Given the description of an element on the screen output the (x, y) to click on. 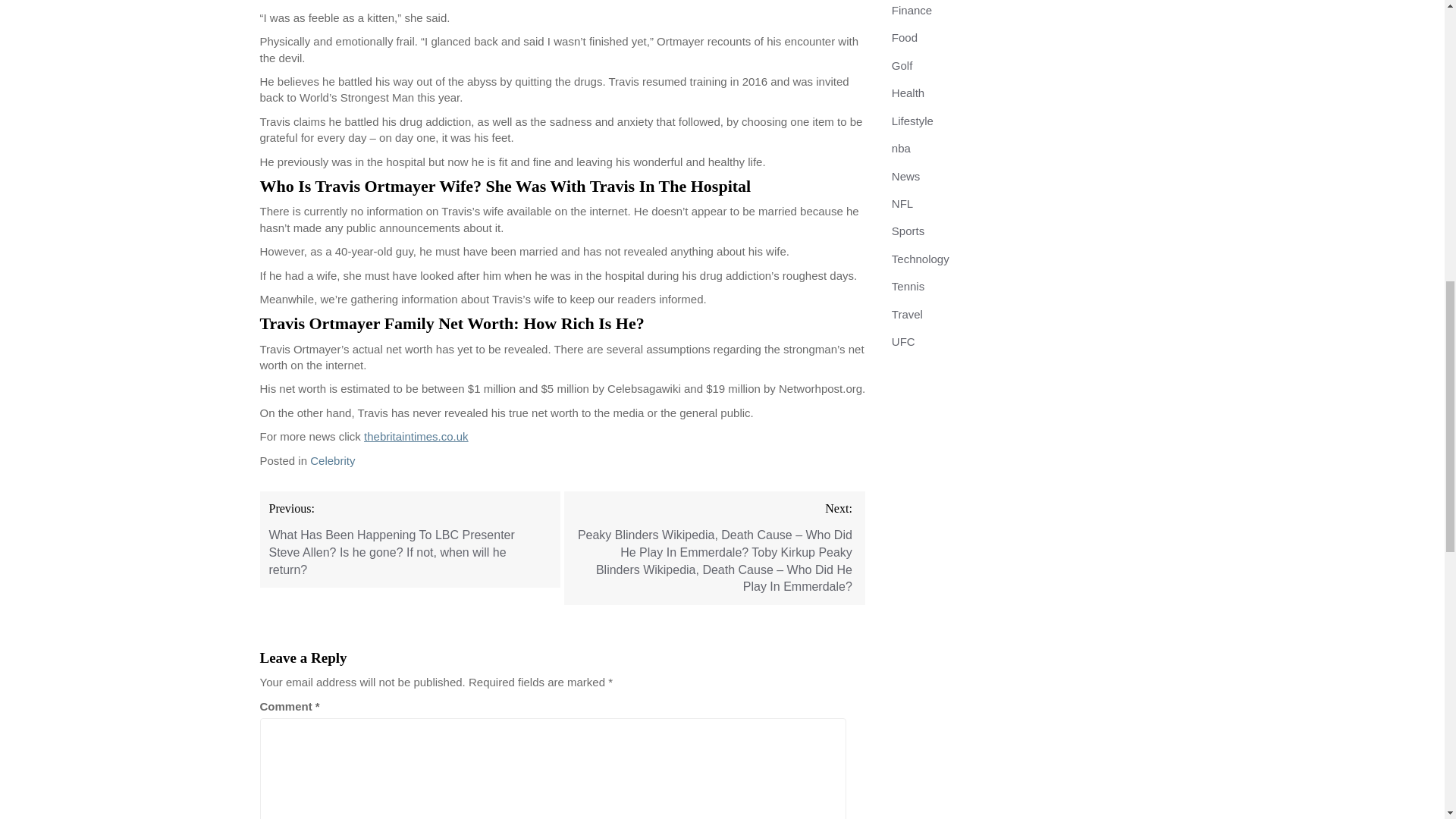
thebritaintimes.co.uk (416, 436)
Celebrity (332, 460)
